Given the description of an element on the screen output the (x, y) to click on. 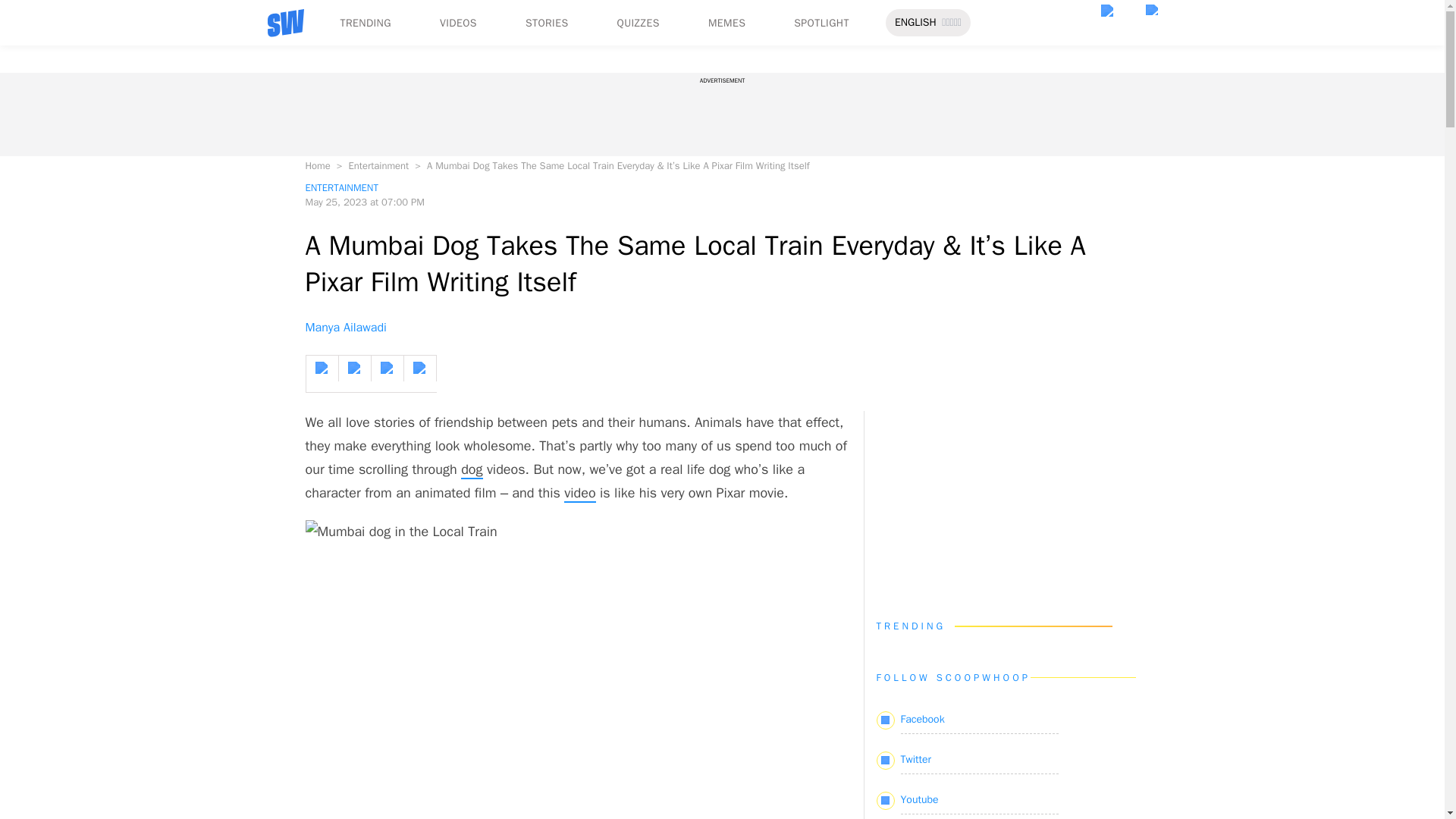
Women (55, 56)
Health (52, 164)
Men (47, 151)
Animals (56, 83)
Opinion (55, 15)
Bigg Boss (60, 178)
Trending (58, 55)
ADVERTISE WITH US (231, 270)
CONTACT US (133, 270)
ABOUT US (66, 270)
Travel (51, 42)
Videos (52, 69)
Quizzes (55, 96)
ENGLISH (31, 149)
Memes (53, 110)
